Given the description of an element on the screen output the (x, y) to click on. 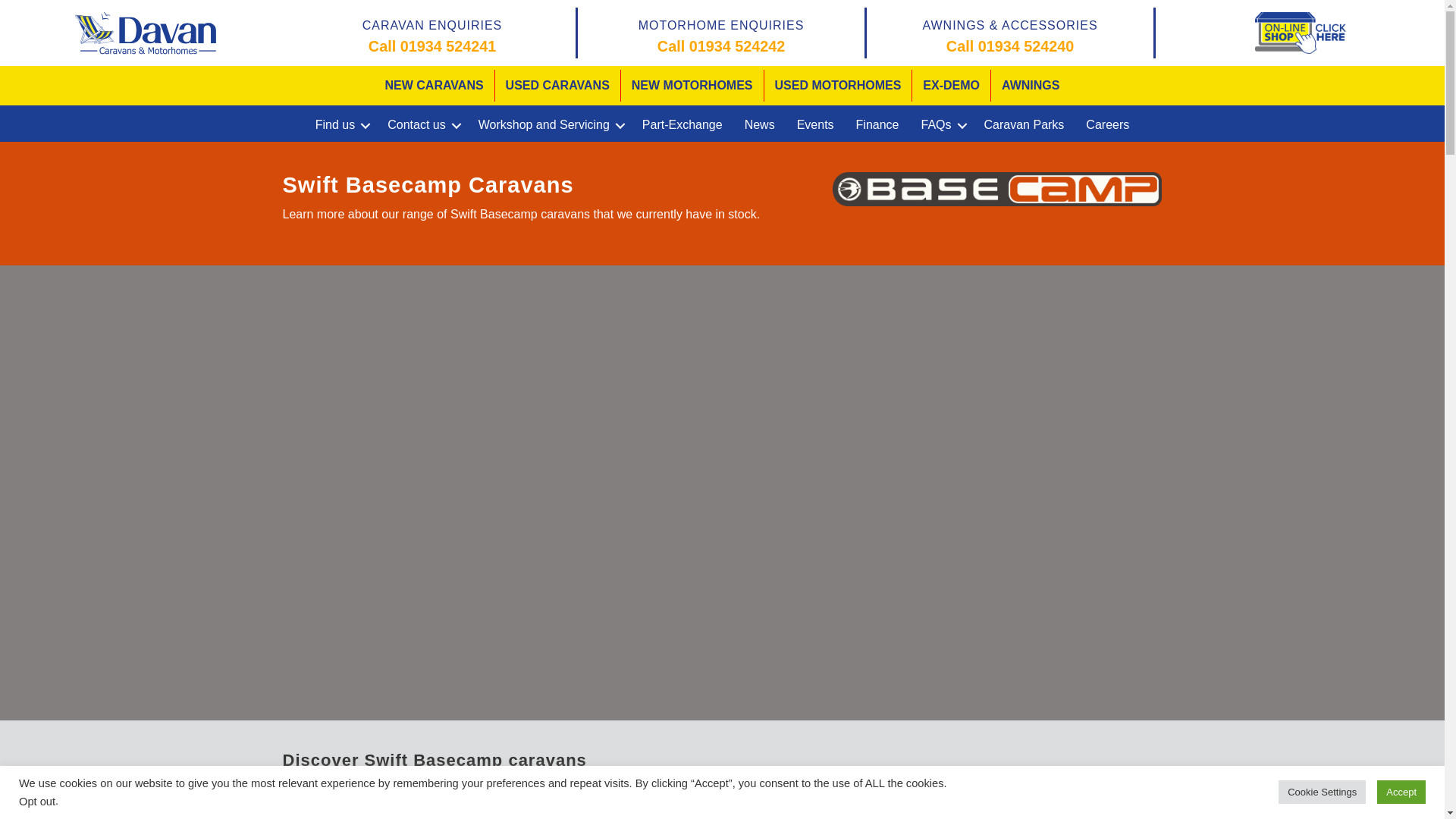
NEW MOTORHOMES (691, 85)
USED CARAVANS (557, 85)
NEW CARAVANS (434, 85)
CARAVAN ENQUIRIES (432, 24)
USED MOTORHOMES (838, 85)
Davan Logo SVG (143, 32)
Call 01934 524242 (721, 45)
davan shop for online awnings and camping accessories (1299, 33)
Basecamp-RGB - Davan Caravans (996, 188)
EX-DEMO (951, 85)
